Given the description of an element on the screen output the (x, y) to click on. 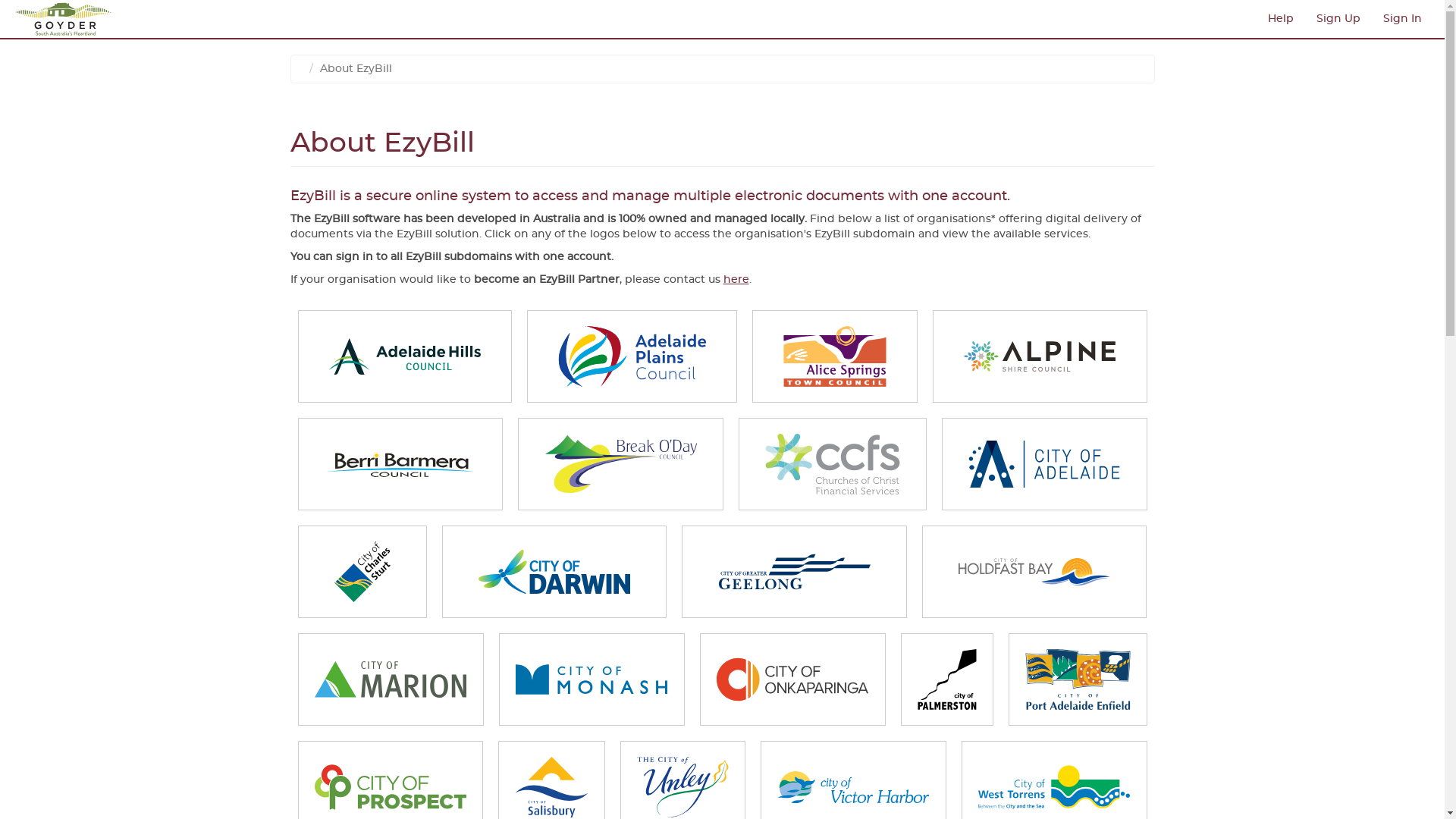
Sign Up Element type: text (1338, 18)
Open Break O'Day Council EzyBill site in new window. Element type: hover (620, 463)
Open Alice Springs Town Council EzyBill site in new window. Element type: hover (834, 356)
Open City of Palmerston EzyBill site in new window. Element type: hover (946, 679)
Regional Council of Goyder Element type: text (68, 18)
Open City of Marion EzyBill site in new window. Element type: hover (390, 679)
Open City of Salisbury EzyBill site in new window. Element type: hover (551, 786)
Open City of Victor Harbor EzyBill site in new window. Element type: hover (853, 786)
Open City of West Torrens EzyBill site in new window. Element type: hover (1054, 786)
Open Alpine Shire Council EzyBill site in new window. Element type: hover (1039, 356)
Open City of Holdfast Bay EzyBill site in new window. Element type: hover (1034, 571)
Sign In Element type: text (1402, 18)
Open City of Onkaparinga EzyBill site in new window. Element type: hover (792, 679)
Open Adelaide Hills Council EzyBill site in new window. Element type: hover (404, 356)
Open City of Monash EzyBill site in new window. Element type: hover (591, 679)
Open City of Unley EzyBill site in new window. Element type: hover (682, 786)
Open City of Prospect EzyBill site in new window. Element type: hover (390, 786)
Open City of Greater Geelong EzyBill site in new window. Element type: hover (794, 571)
Help Element type: text (1280, 18)
here Element type: text (736, 279)
Open City of Charles Sturt EzyBill site in new window. Element type: hover (362, 571)
Open City of Darwin EzyBill site in new window. Element type: hover (554, 571)
Open Adelaide Plains Council EzyBill site in new window. Element type: hover (631, 356)
Open City of Adelaide EzyBill site in new window. Element type: hover (1044, 463)
Open Berri Barmera Council EzyBill site in new window. Element type: hover (400, 463)
